Given the description of an element on the screen output the (x, y) to click on. 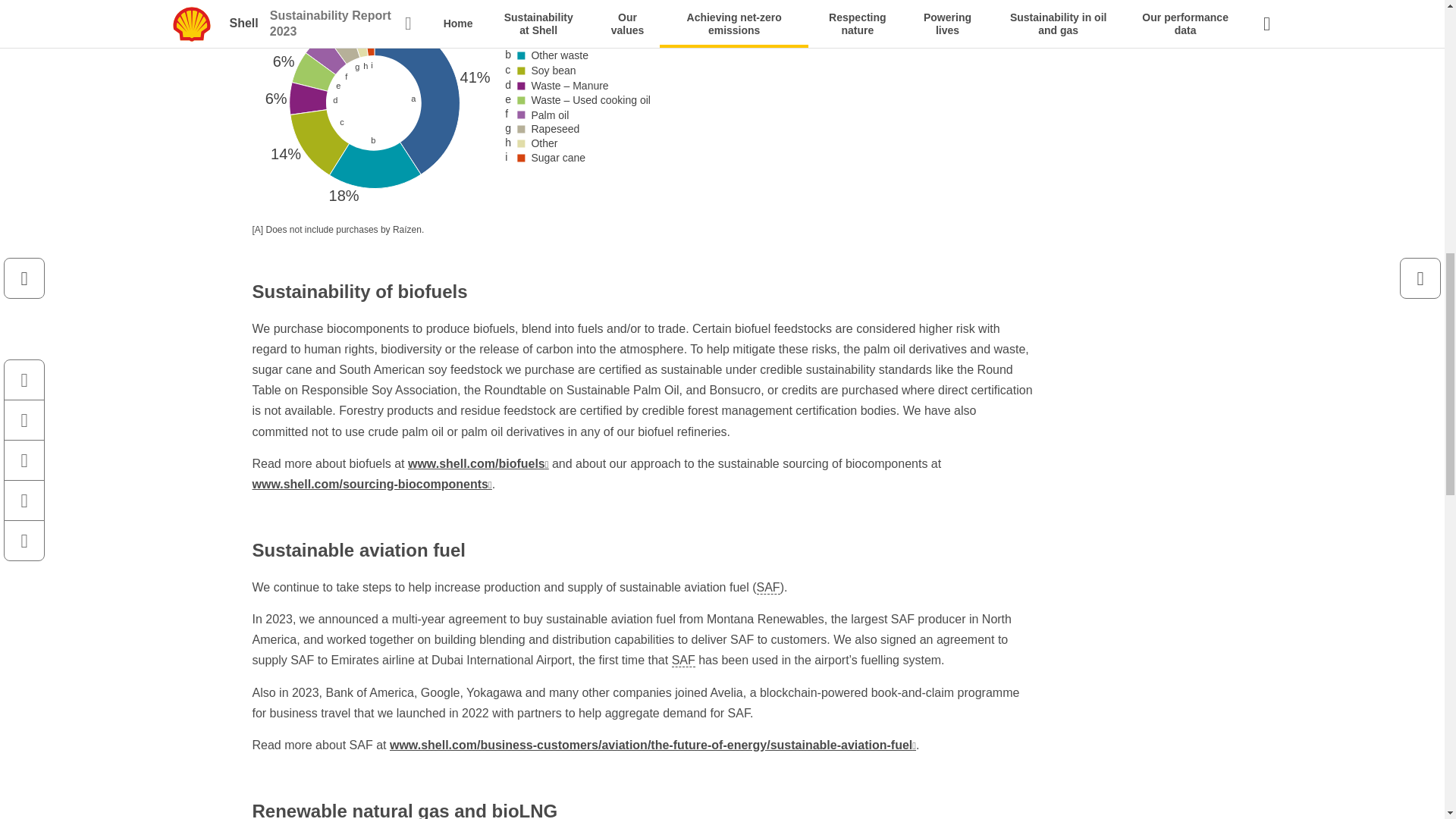
Opens in new window (652, 744)
Opens in new window (477, 463)
Opens in new window (371, 483)
